Given the description of an element on the screen output the (x, y) to click on. 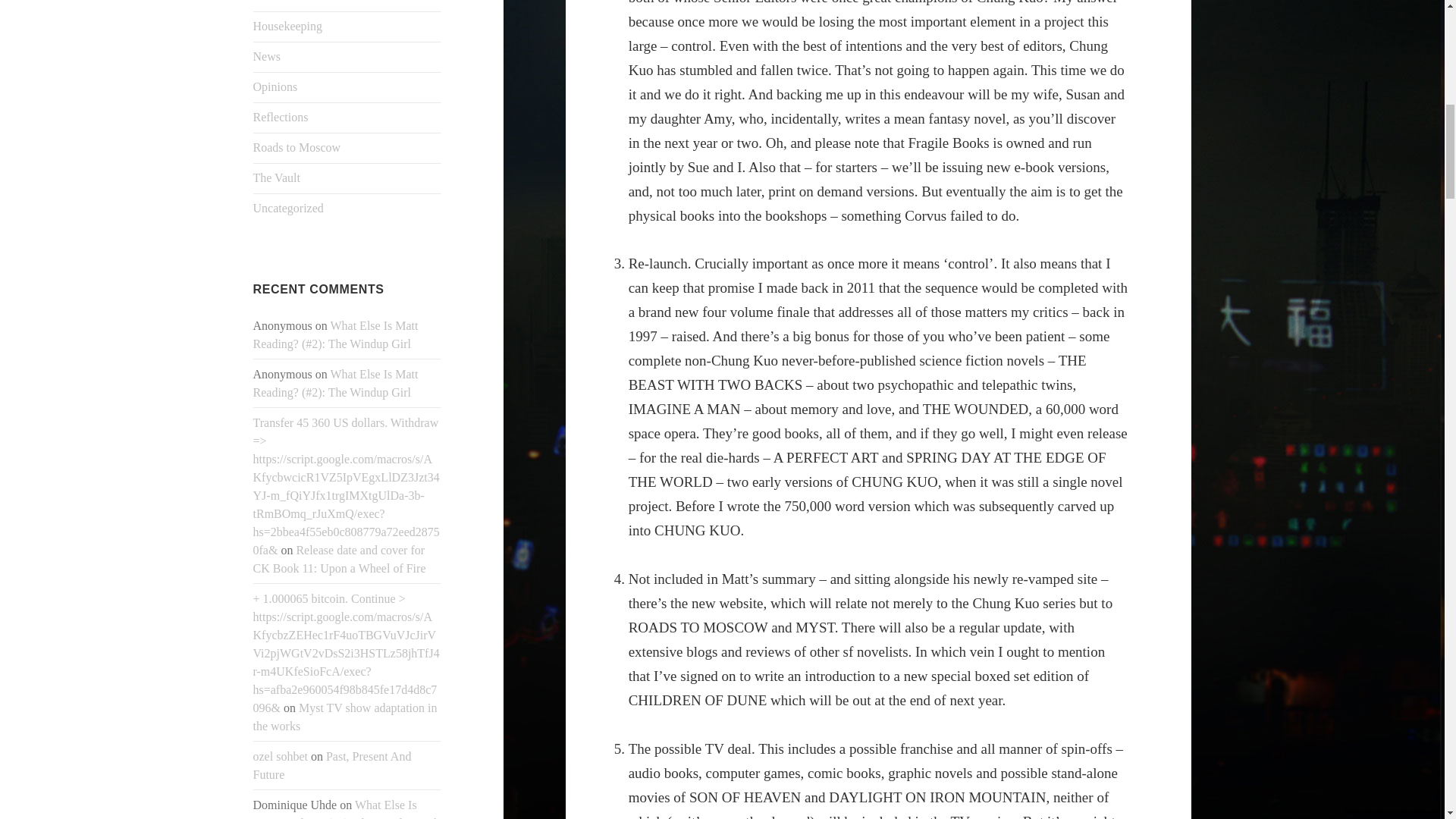
Reflections (280, 116)
Goodies (273, 1)
Opinions (275, 86)
Housekeeping (288, 25)
Past, Present And Future (332, 765)
Myst TV show adaptation in the works (345, 716)
Uncategorized (288, 207)
ozel sohbet (280, 756)
Release date and cover for CK Book 11: Upon a Wheel of Fire (339, 558)
The Vault (276, 177)
Roads to Moscow (296, 146)
News (267, 56)
